Given the description of an element on the screen output the (x, y) to click on. 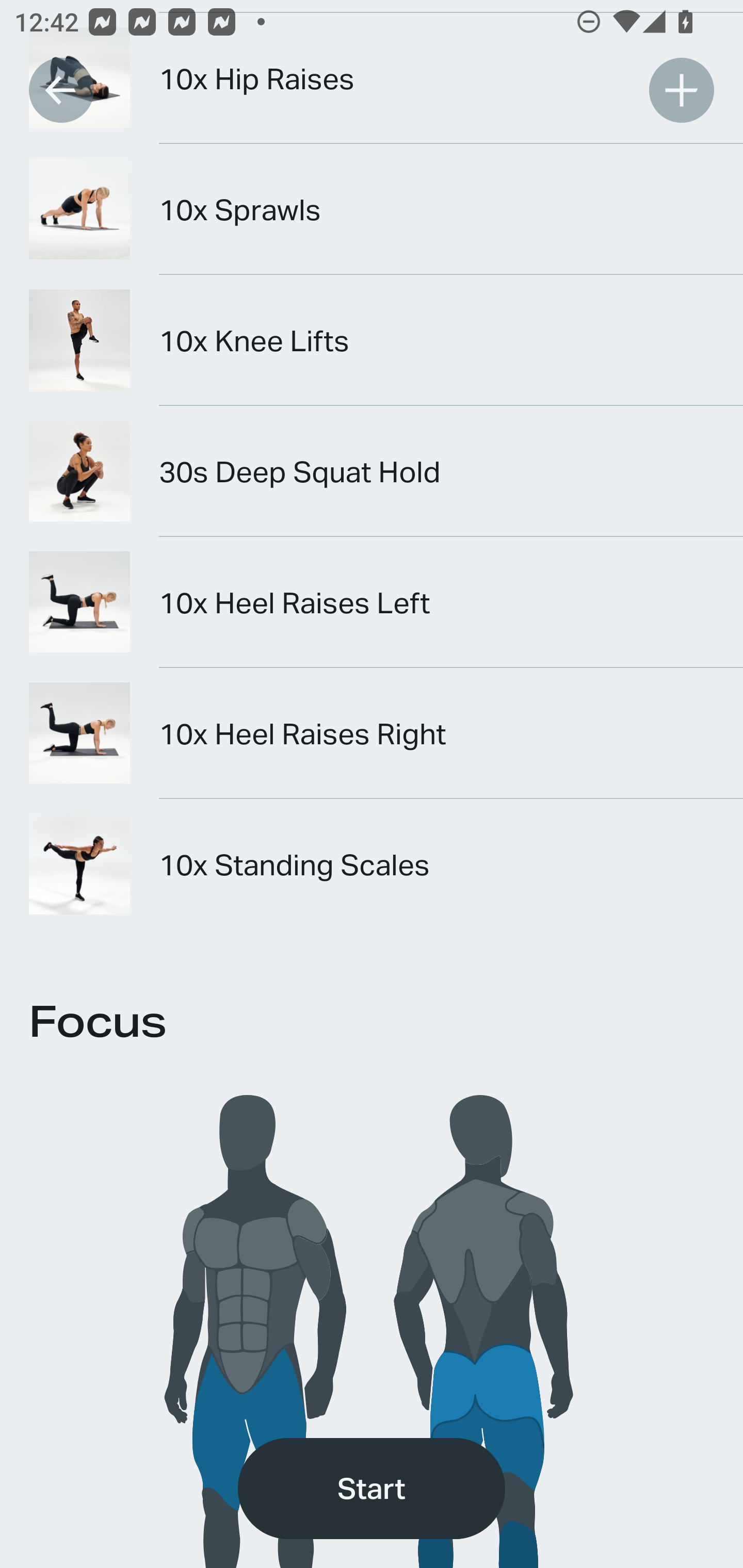
Go back (60, 90)
Log (681, 90)
Start (371, 1488)
